Given the description of an element on the screen output the (x, y) to click on. 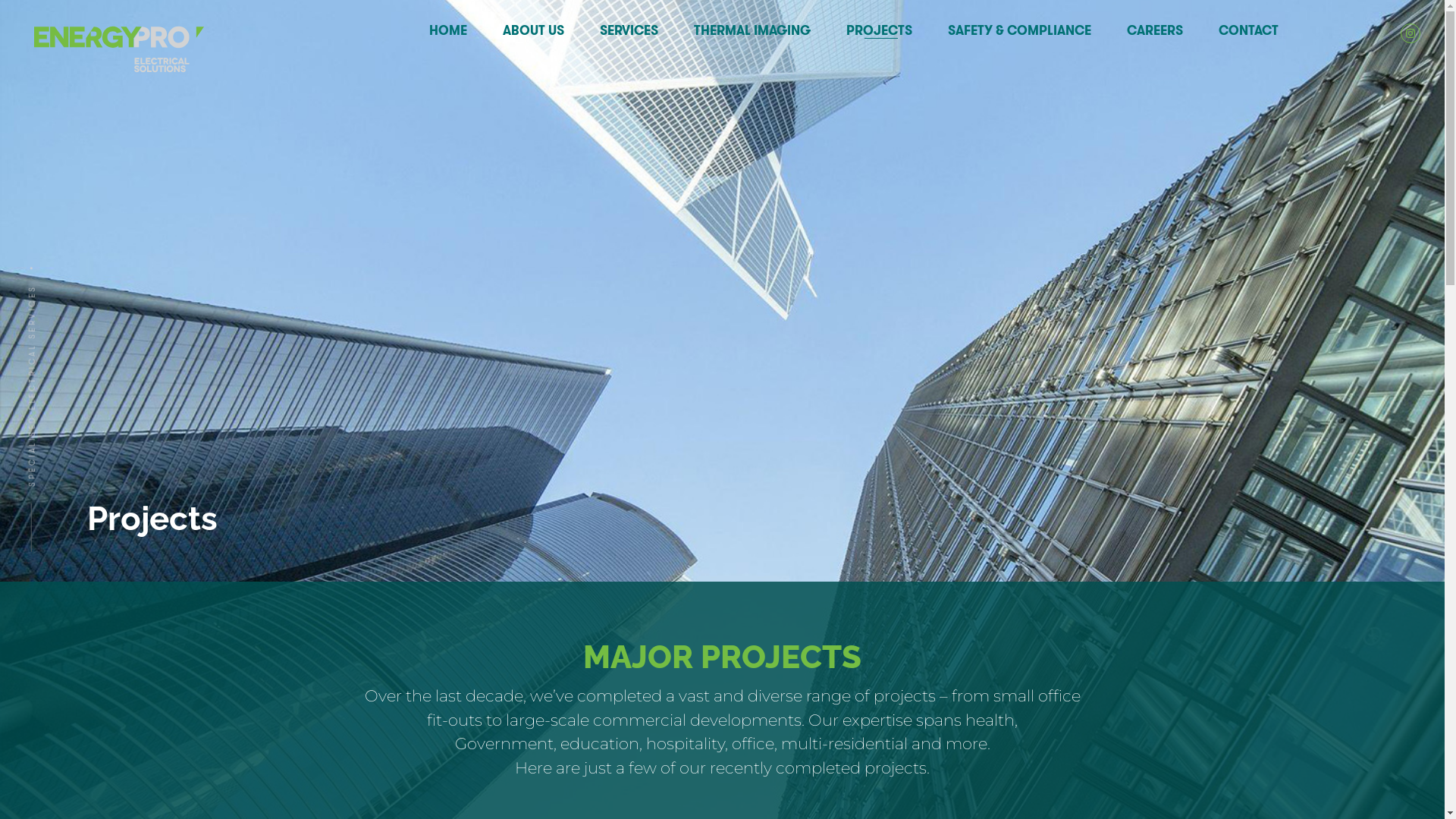
Instagram Element type: hover (1410, 33)
HOME Element type: text (449, 30)
PROJECTS Element type: text (880, 30)
ABOUT US Element type: text (534, 30)
THERMAL IMAGING Element type: text (753, 30)
CONTACT Element type: text (1250, 30)
SERVICES Element type: text (630, 30)
SAFETY & COMPLIANCE Element type: text (1020, 30)
Instagram Element type: hover (1410, 33)
CAREERS Element type: text (1156, 30)
